Given the description of an element on the screen output the (x, y) to click on. 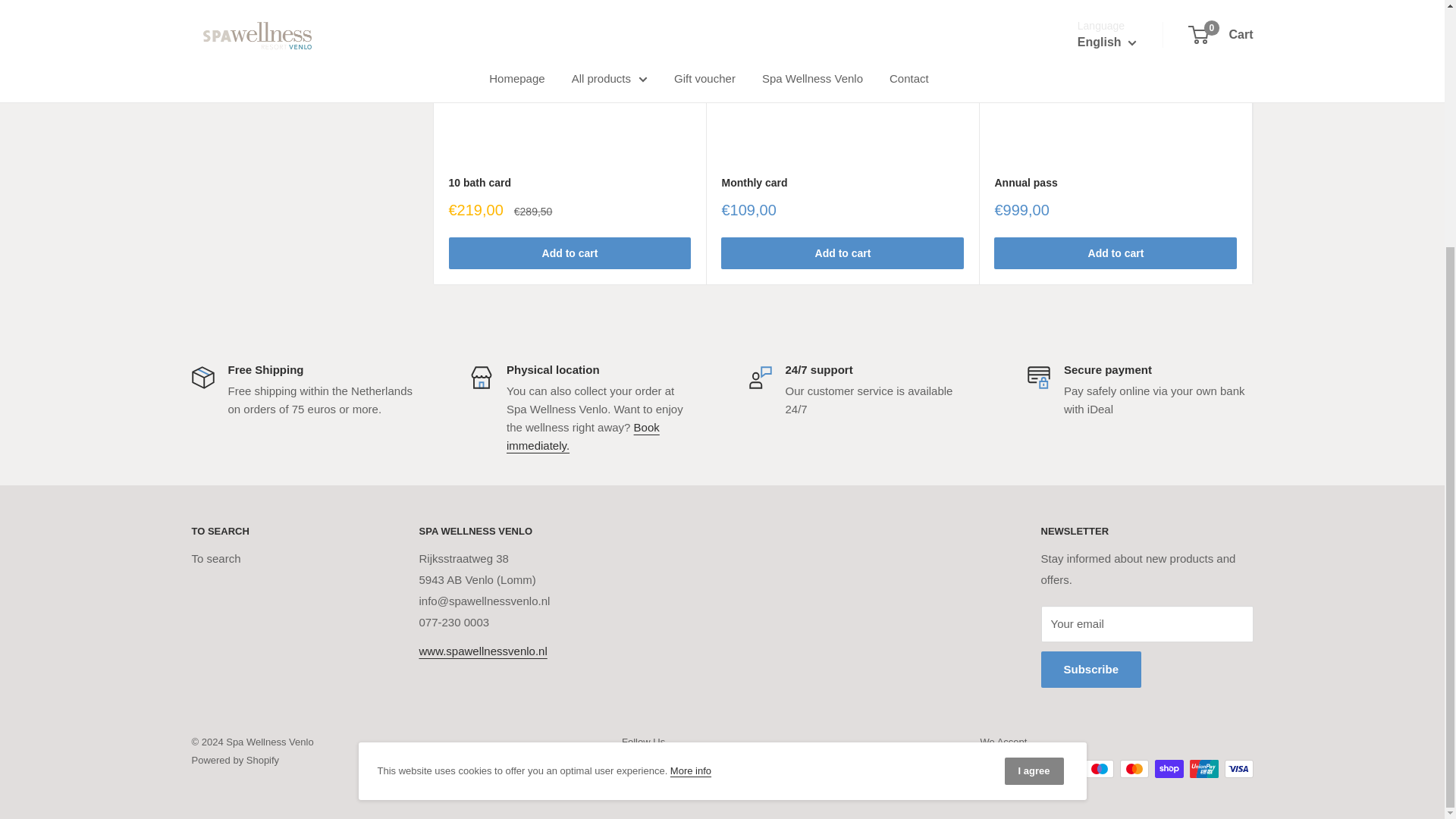
Privacy Policy (690, 426)
